Given the description of an element on the screen output the (x, y) to click on. 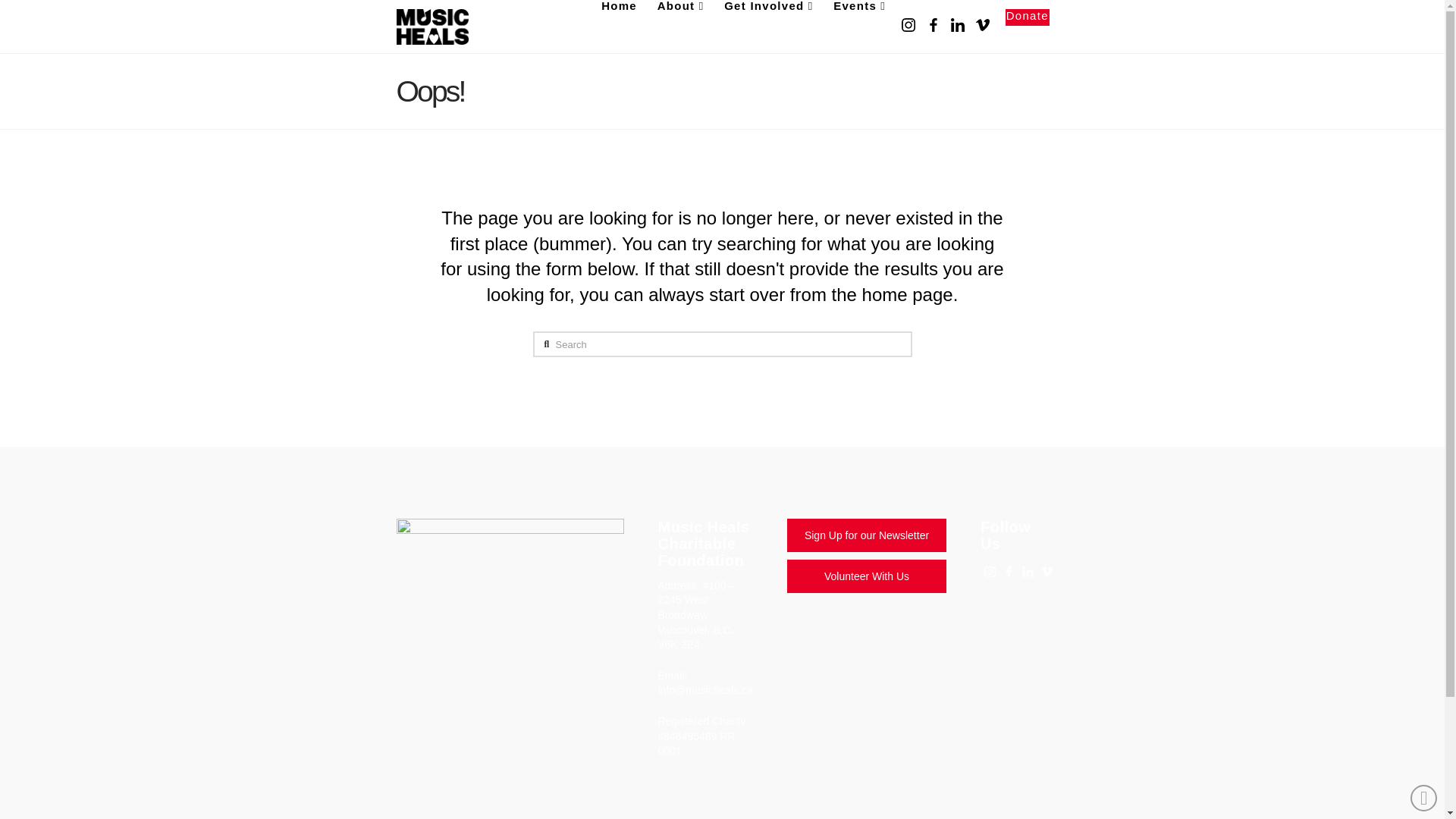
Donate (1021, 26)
Home (618, 26)
About (679, 26)
Back to Top (1423, 797)
Events (858, 26)
Get Involved (767, 26)
